Given the description of an element on the screen output the (x, y) to click on. 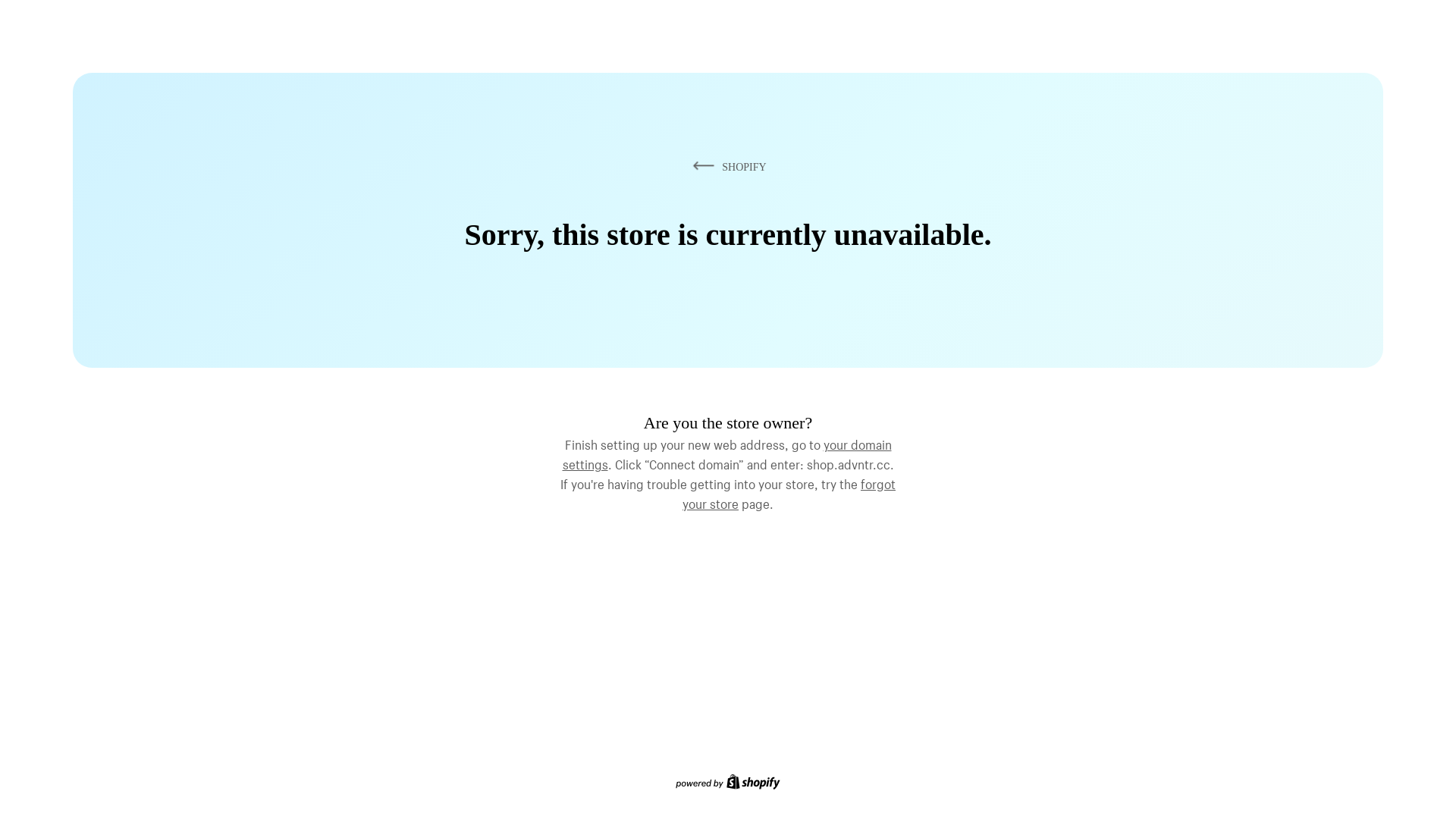
forgot your store Element type: text (788, 491)
SHOPIFY Element type: text (727, 166)
your domain settings Element type: text (726, 452)
